Given the description of an element on the screen output the (x, y) to click on. 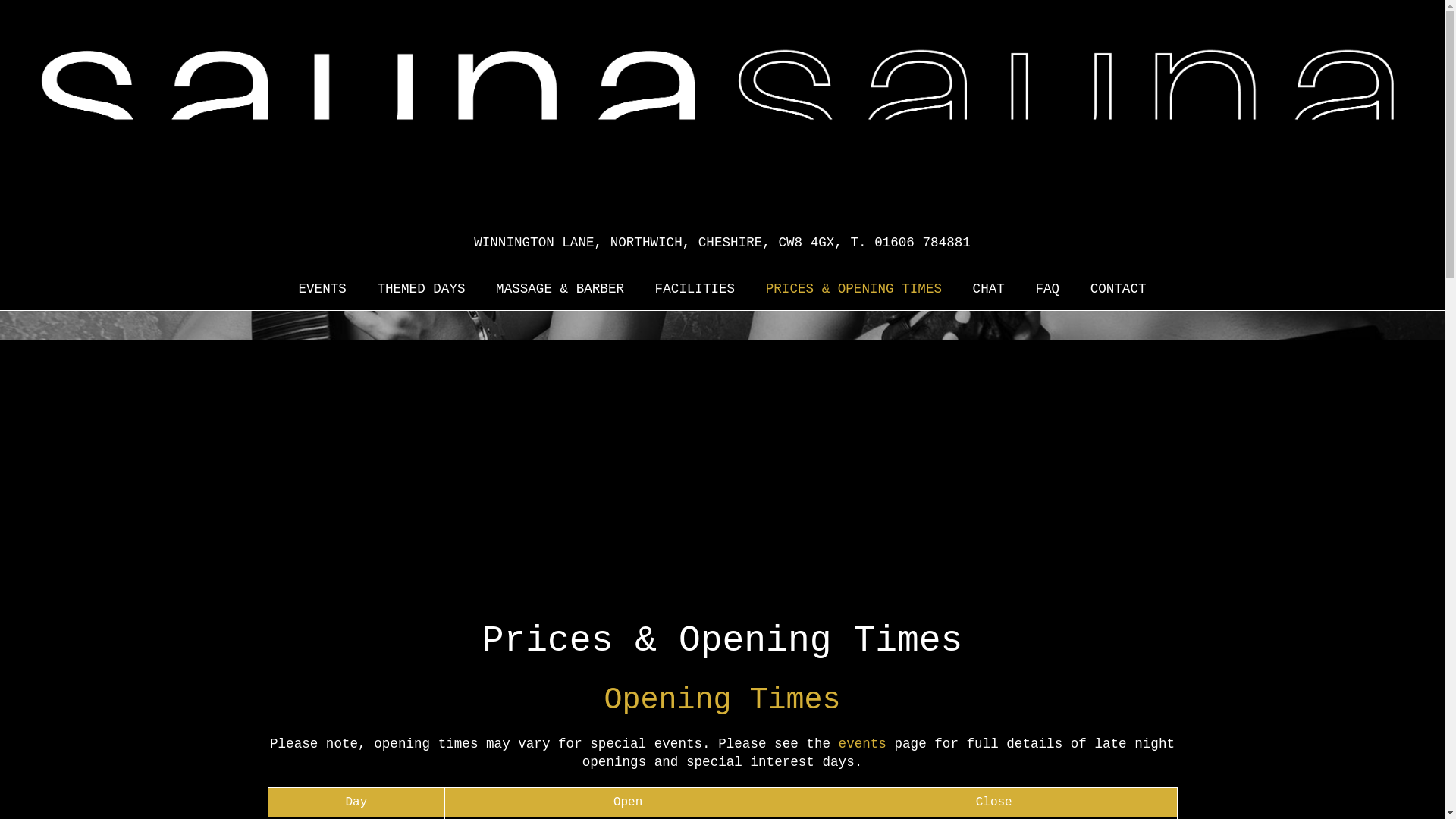
EVENTS (322, 288)
CHAT (988, 288)
View our calendar of events (322, 288)
Get in touch with Sauna Sauna Northwich (1118, 288)
Call us (923, 242)
FAQ (1047, 288)
View our range of themed days (420, 288)
FACILITIES (695, 288)
THEMED DAYS (420, 288)
events (862, 743)
